Given the description of an element on the screen output the (x, y) to click on. 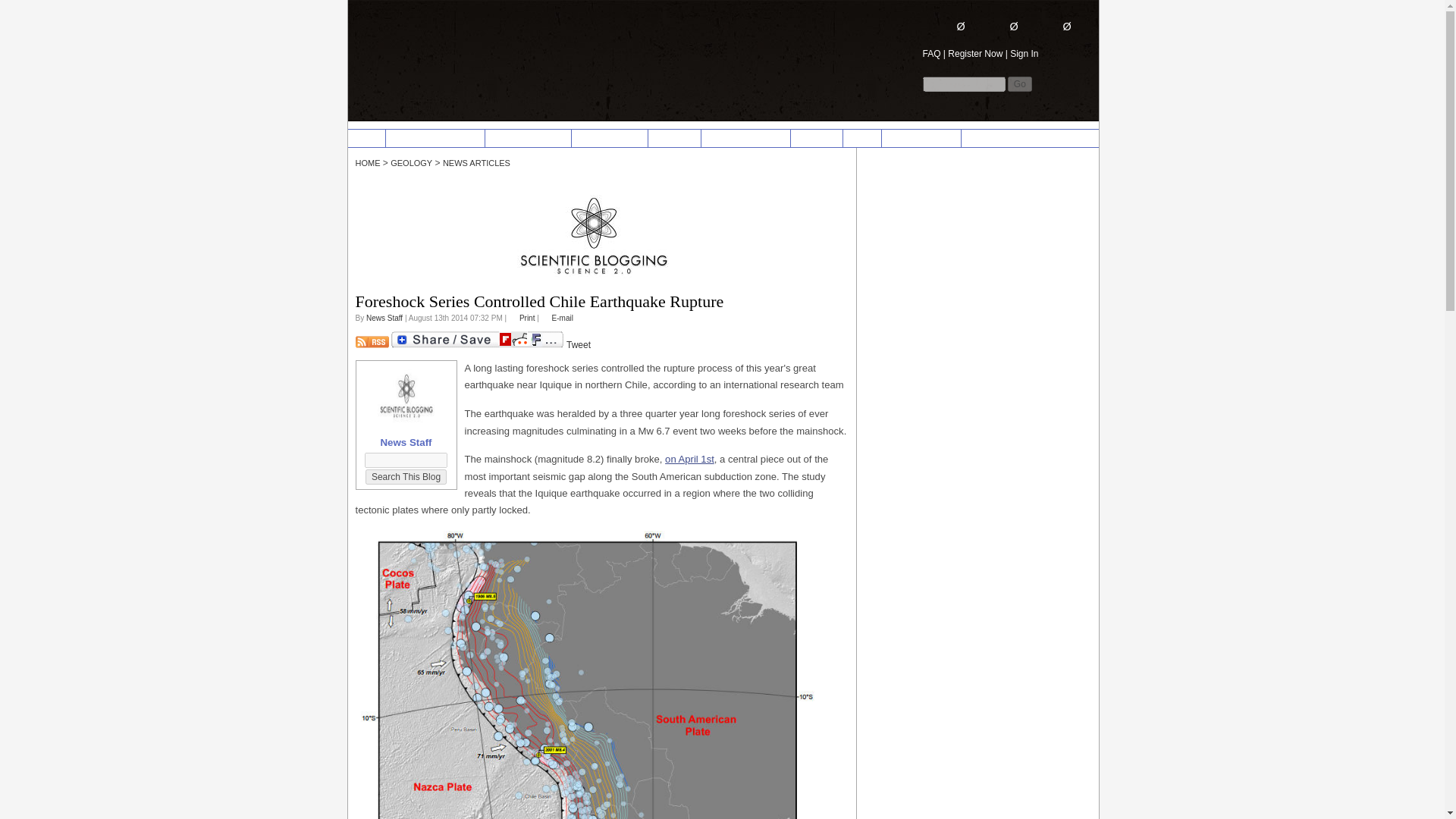
EARTH SCIENCES (527, 138)
LIFE SCIENCES (609, 138)
HOME (365, 138)
View user profile. (384, 317)
Sign In (1024, 53)
Enter the terms you wish to search for. (962, 83)
Go (1019, 83)
Sign in and see comments by people on your friends list... (1054, 26)
